Given the description of an element on the screen output the (x, y) to click on. 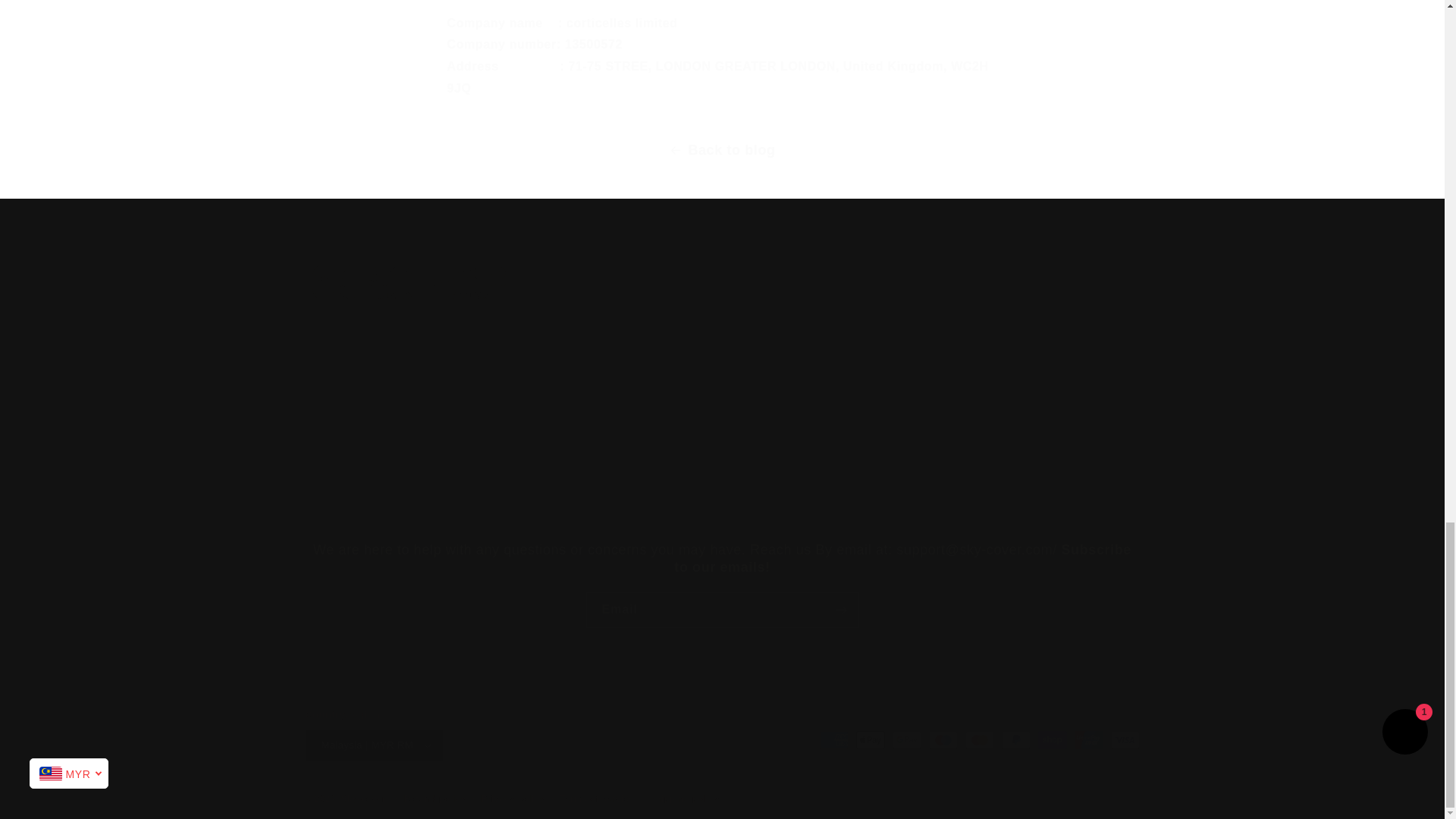
sky-cover  Customer Support Whatsapp (387, 488)
